Given the description of an element on the screen output the (x, y) to click on. 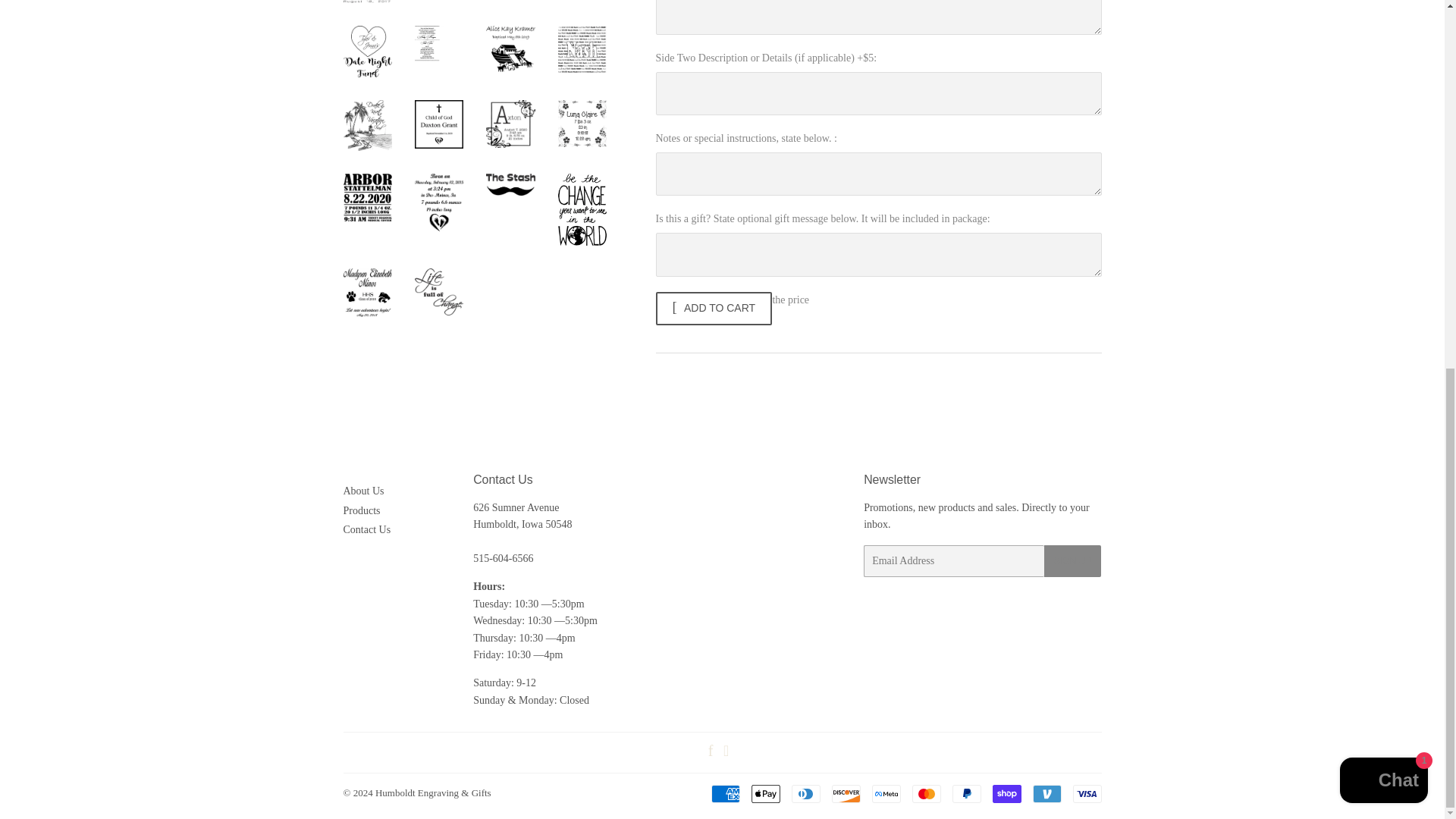
PayPal (966, 793)
Venmo (1046, 793)
Shop Pay (1005, 793)
Discover (845, 793)
Visa (1085, 793)
Mastercard (925, 793)
American Express (725, 793)
Shopify online store chat (1383, 115)
Meta Pay (886, 793)
Diners Club (806, 793)
Apple Pay (764, 793)
